Given the description of an element on the screen output the (x, y) to click on. 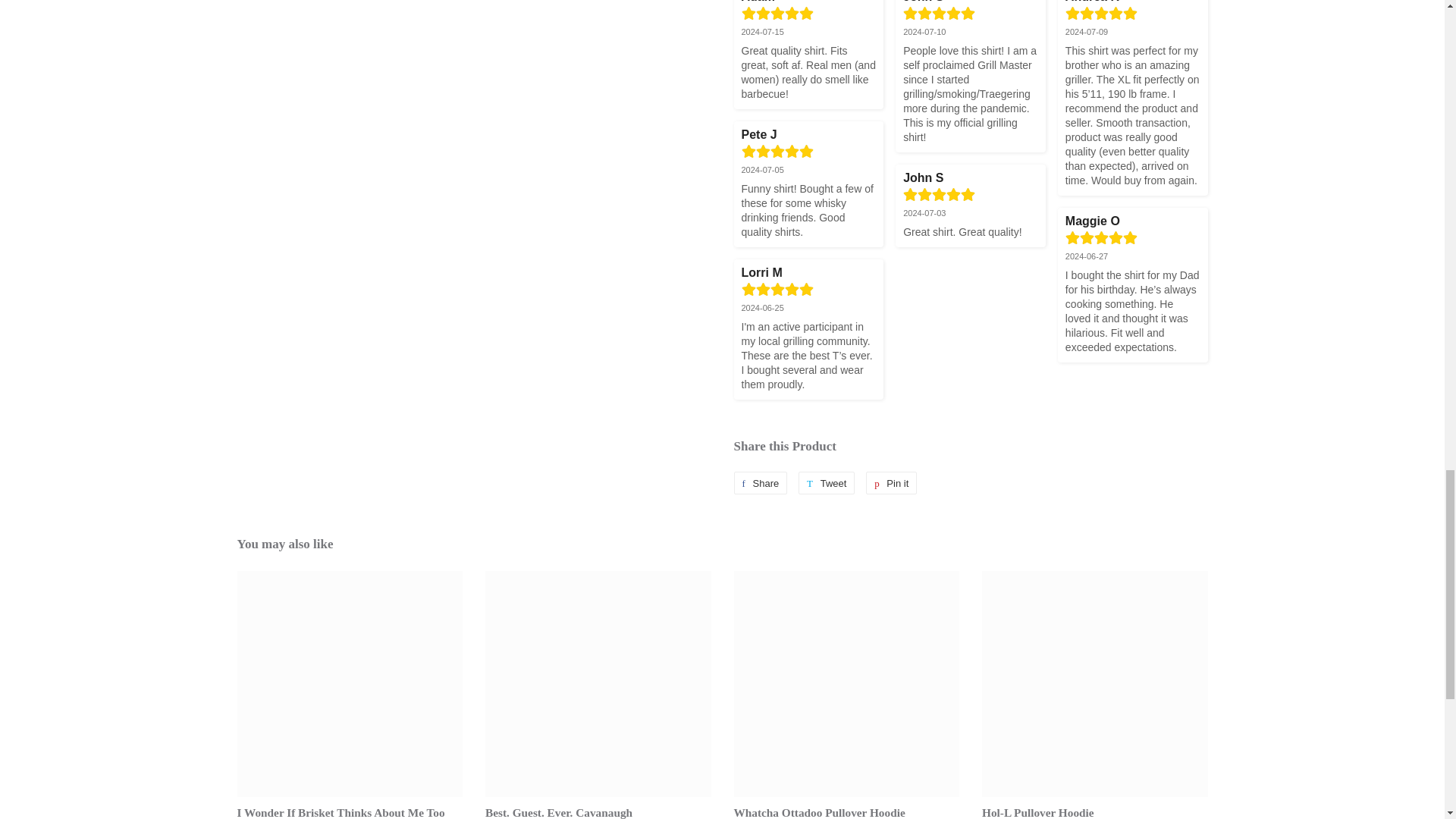
Pin on Pinterest (891, 482)
Share on Facebook (760, 482)
Tweet on Twitter (825, 482)
